Given the description of an element on the screen output the (x, y) to click on. 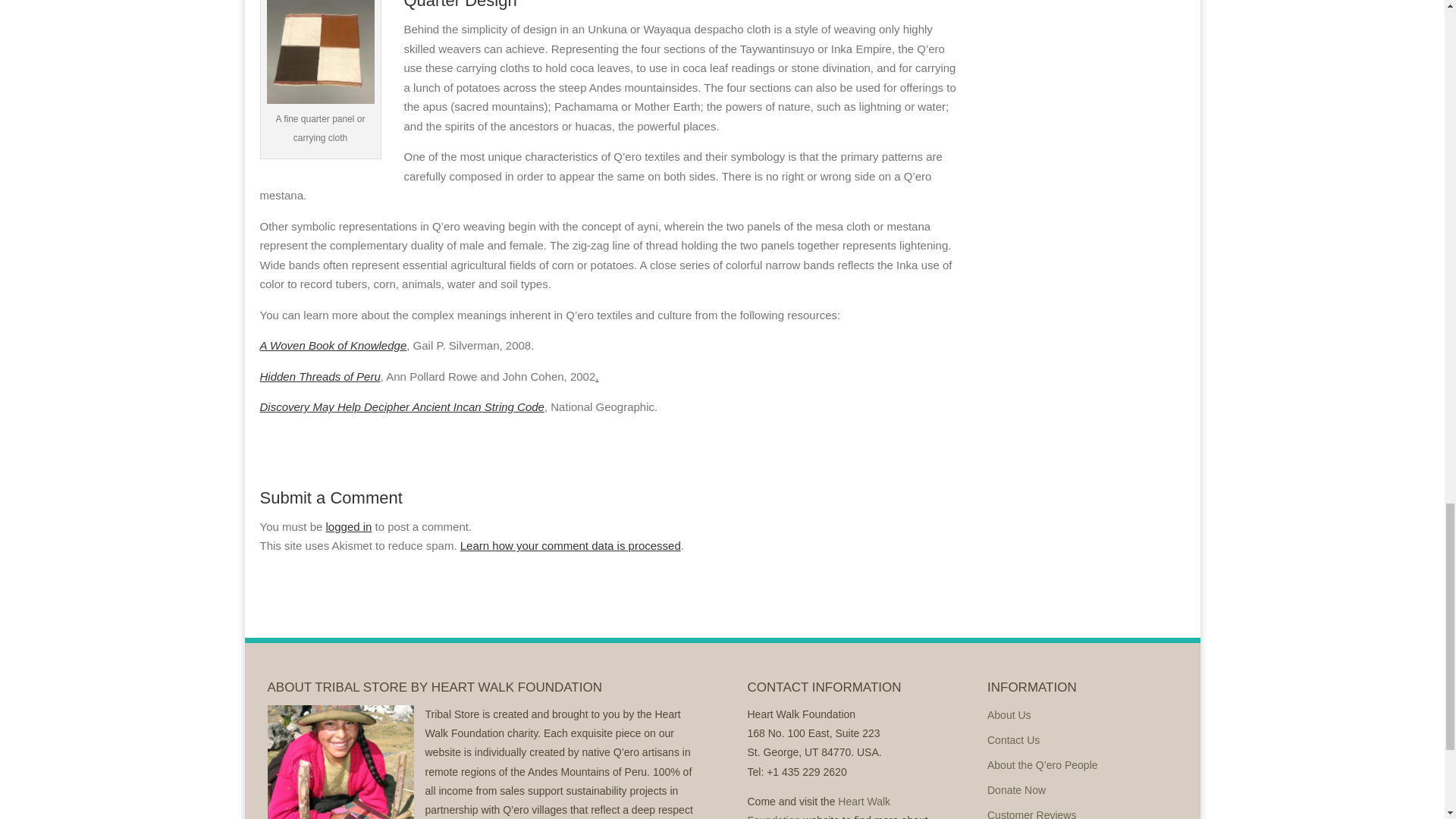
Learn how your comment data is processed (570, 545)
A Woven Book of Knowledge (332, 345)
Heart Walk Foundation (819, 807)
Hidden Threads of Peru (319, 376)
logged in (349, 526)
Discovery May Help Decipher Ancient Incan String Code (401, 406)
